Given the description of an element on the screen output the (x, y) to click on. 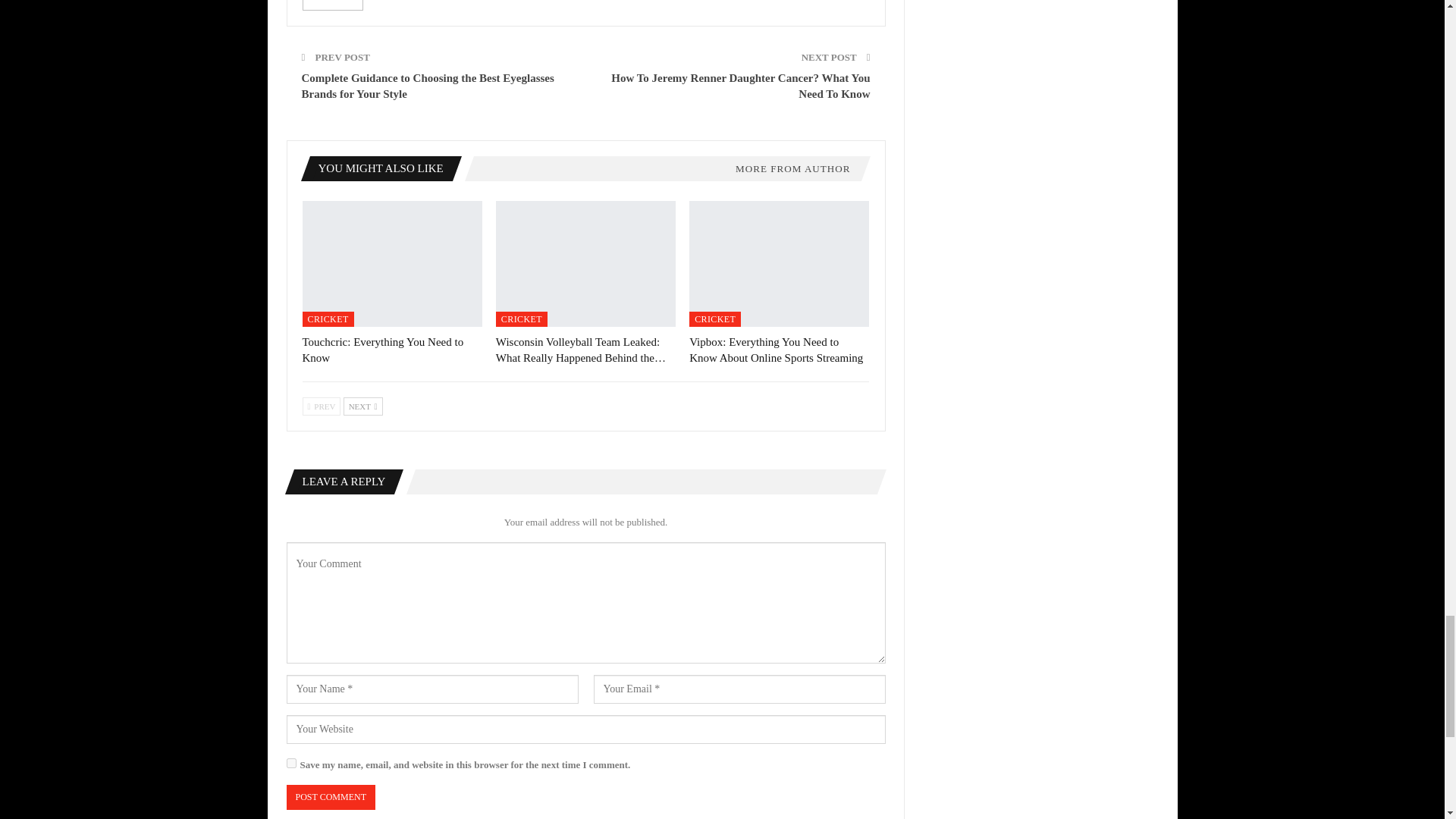
yes (291, 763)
Touchcric: Everything You Need to Know (391, 263)
Post Comment (330, 796)
Touchcric: Everything You Need to Know (382, 349)
